Given the description of an element on the screen output the (x, y) to click on. 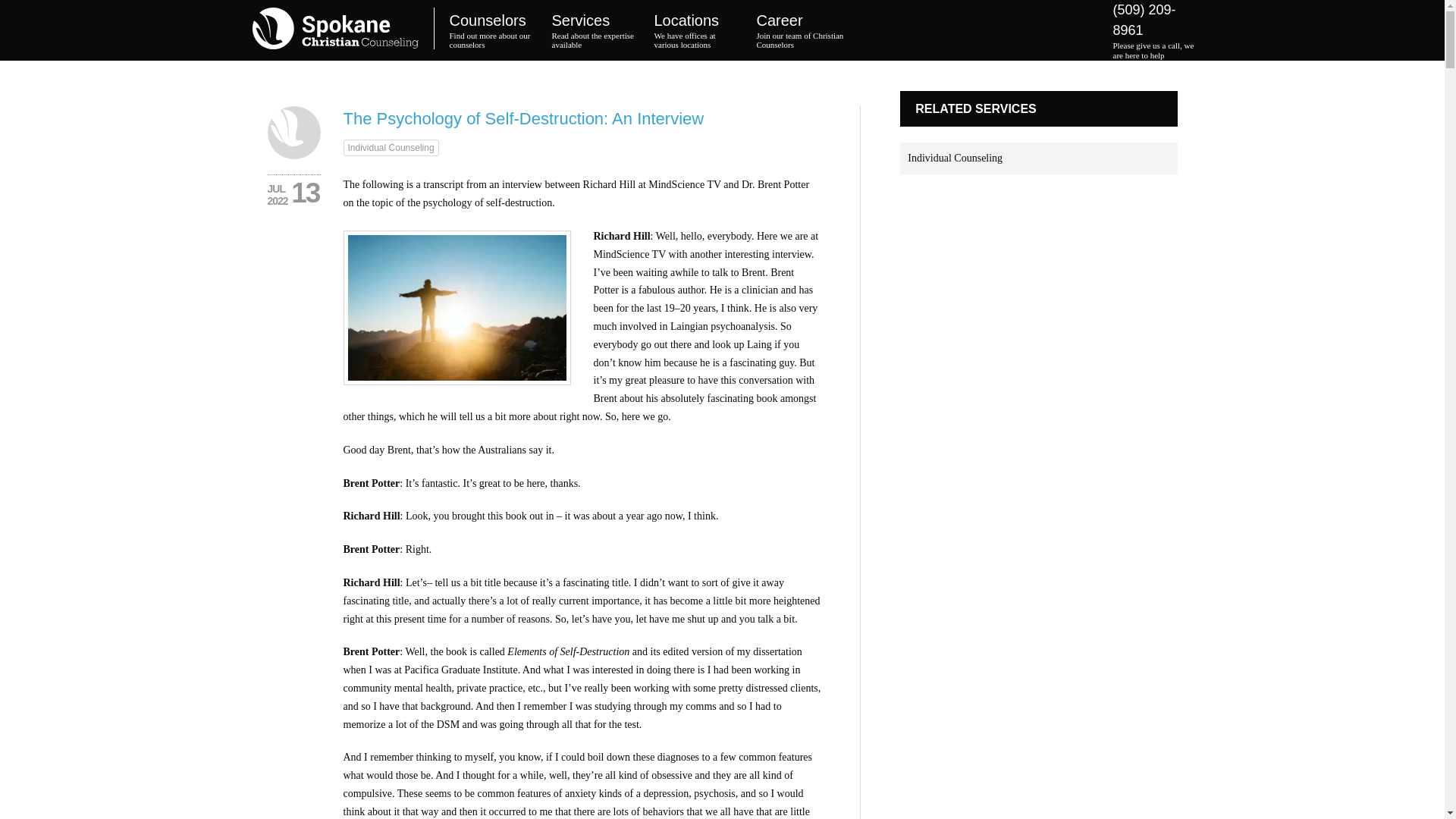
View Individual Counseling Service (955, 158)
Spokane Christian Counseling (342, 29)
Spokane Christian Counseling (492, 30)
The Psychology of Self-Destruction: An Interview (293, 132)
Spokane Christian Counseling (595, 30)
